Given the description of an element on the screen output the (x, y) to click on. 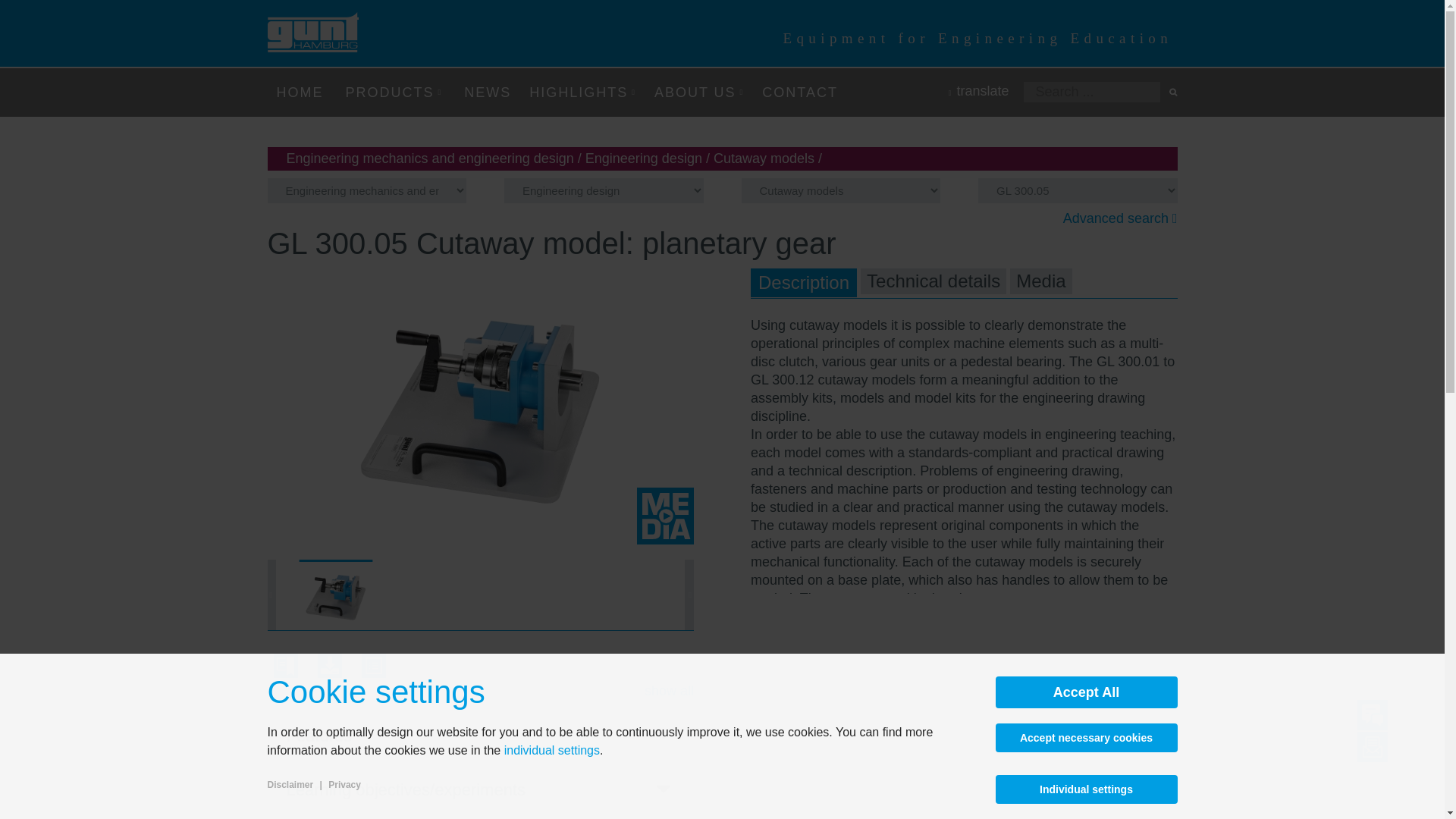
Download specifications (373, 673)
Add to basket for price request (284, 673)
